Given the description of an element on the screen output the (x, y) to click on. 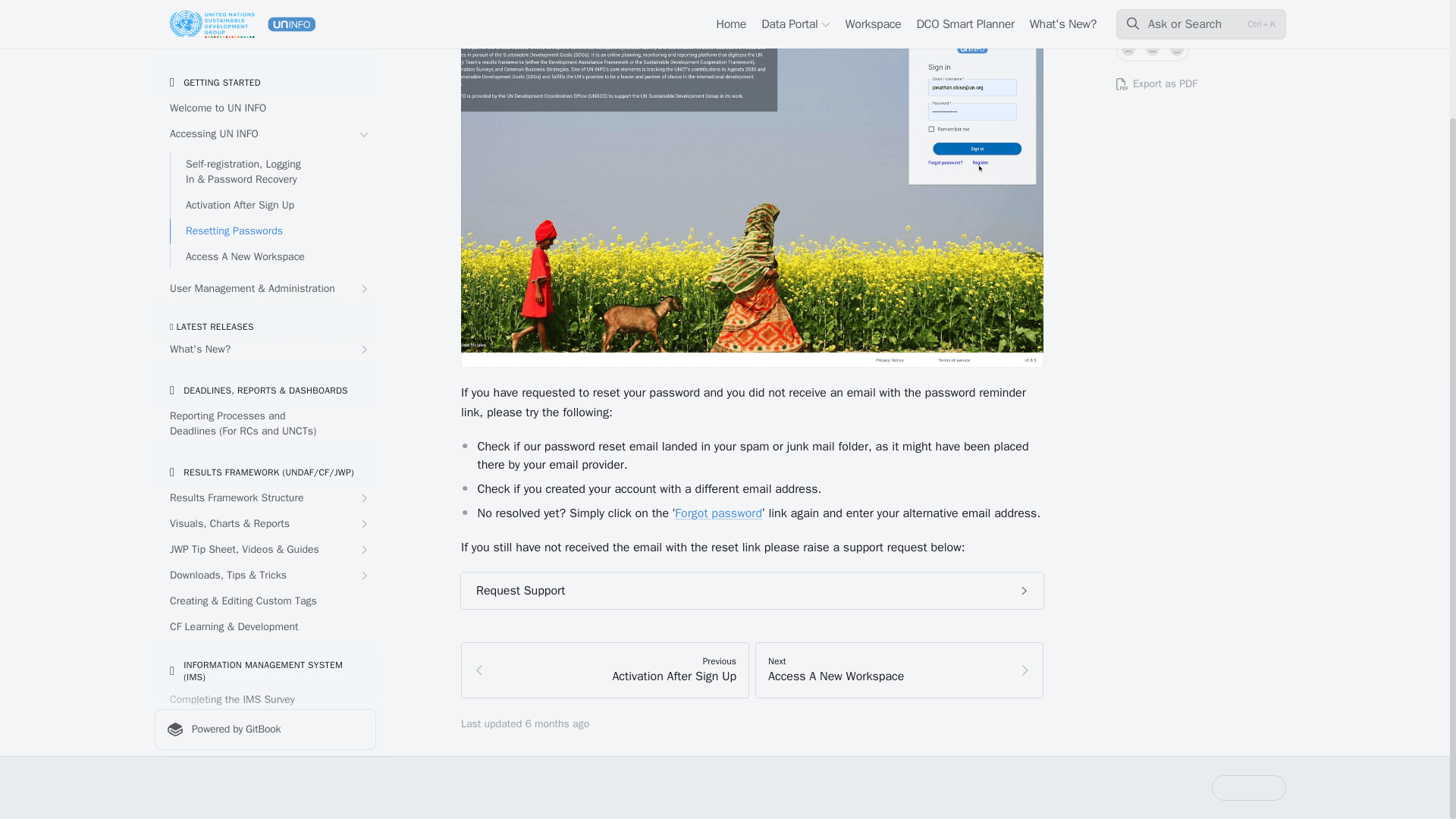
What's New? (264, 273)
Accessing UN INFO (264, 57)
Activation After Sign Up (272, 129)
Resetting Passwords (272, 155)
Welcome to UN INFO (264, 32)
Results Framework Structure (264, 422)
Access A New Workspace (272, 180)
